Given the description of an element on the screen output the (x, y) to click on. 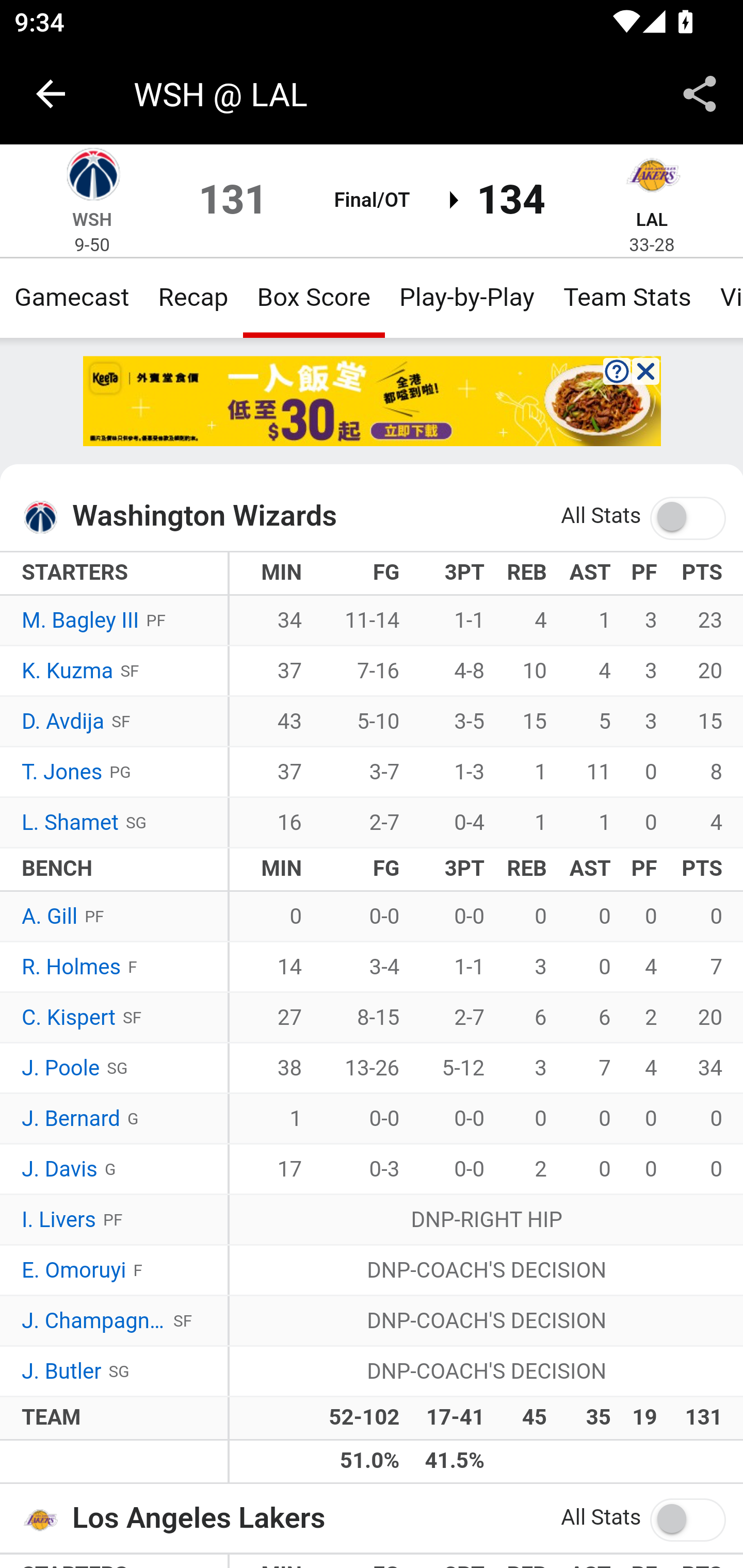
Navigate up (50, 93)
Share (699, 93)
Washington Wizards (91, 177)
Los Angeles Lakers (651, 177)
WSH (92, 219)
LAL (652, 219)
Gamecast (72, 296)
Recap (192, 296)
Box Score (314, 296)
Play-by-Play (466, 296)
Team Stats (627, 296)
Washington Wizards (46, 517)
M. Bagley III (81, 621)
K. Kuzma (67, 671)
D. Avdija (63, 722)
T. Jones (61, 772)
L. Shamet (69, 823)
A. Gill (50, 916)
R. Holmes (71, 968)
C. Kispert (68, 1018)
J. Poole (61, 1068)
J. Bernard (70, 1118)
J. Davis (59, 1170)
I. Livers (59, 1220)
E. Omoruyi (73, 1270)
J. Champagnie (94, 1321)
J. Butler (61, 1371)
Los Angeles Lakers (46, 1518)
